Given the description of an element on the screen output the (x, y) to click on. 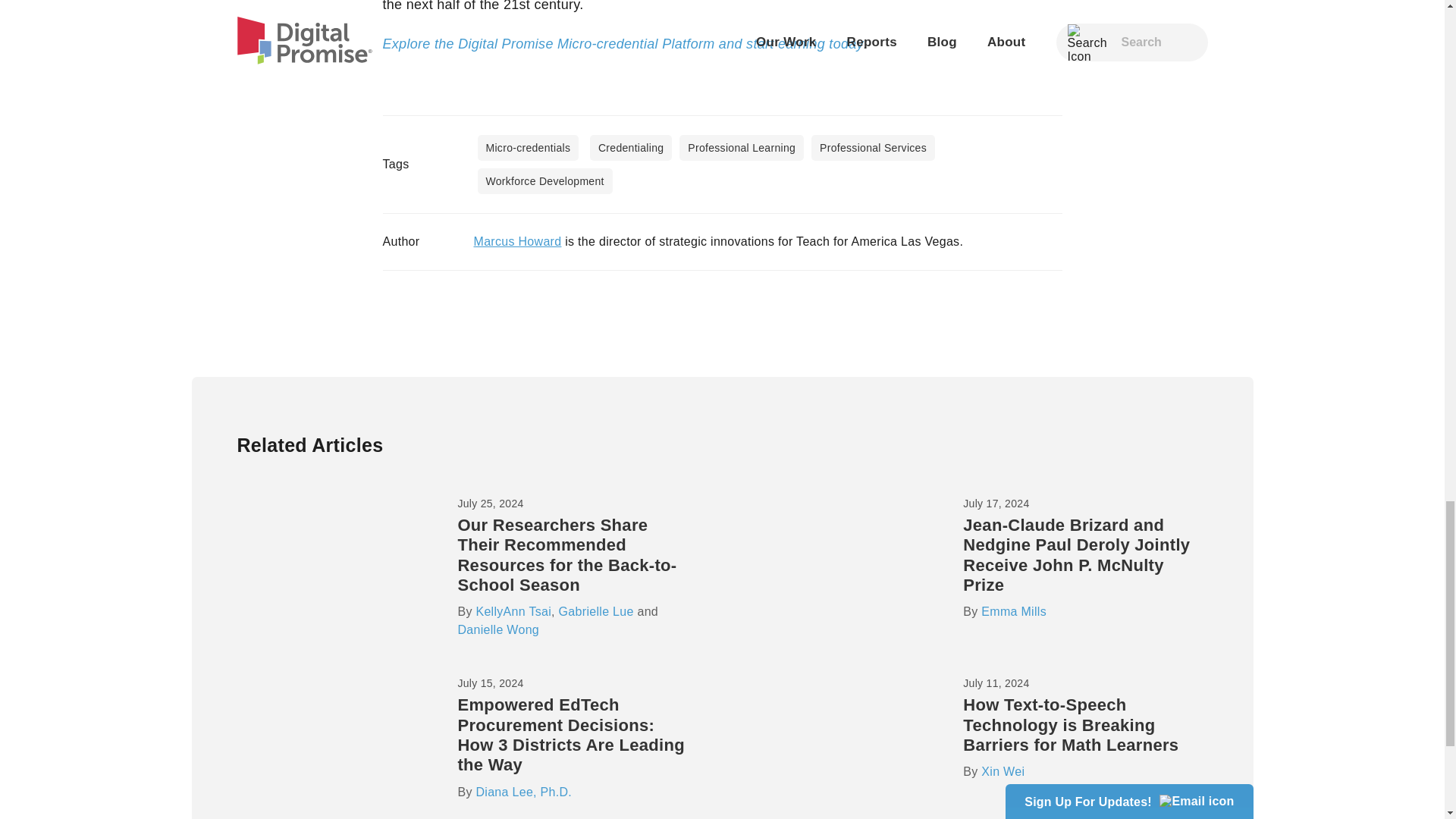
KellyAnn Tsai (513, 611)
Danielle Wong (497, 629)
Workforce Development (544, 181)
Micro-credentials (528, 147)
Posts by Gabrielle Lue (596, 611)
Gabrielle Lue (596, 611)
Professional Learning (741, 147)
Diana Lee, Ph.D. (524, 791)
Posts by Marcus Howard (516, 241)
Posts by KellyAnn Tsai (513, 611)
Credentialing (630, 147)
